Given the description of an element on the screen output the (x, y) to click on. 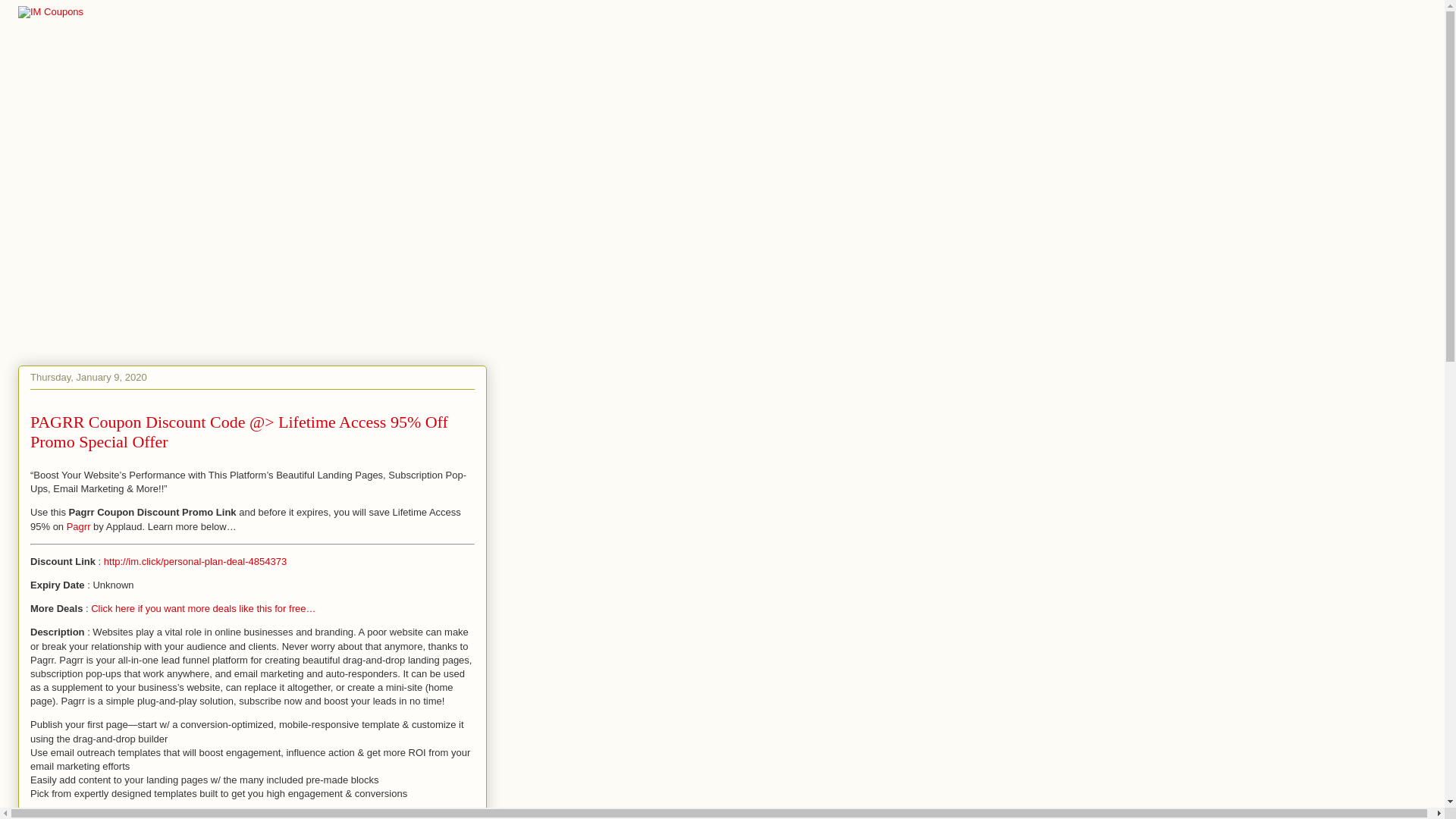
Pagrr (78, 526)
